Given the description of an element on the screen output the (x, y) to click on. 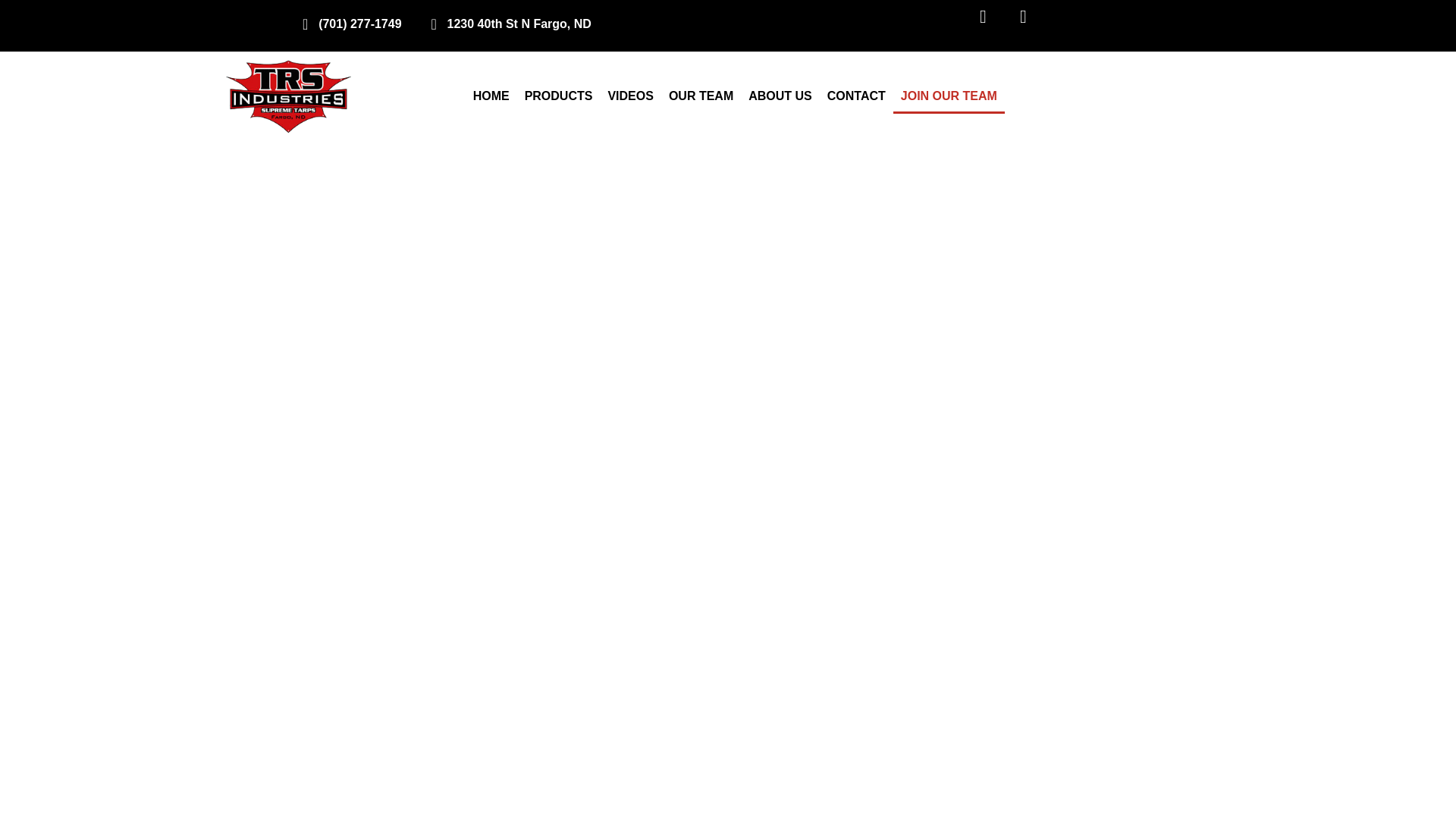
PRODUCTS (557, 95)
OUR TEAM (701, 95)
ABOUT US (780, 95)
HOME (490, 95)
VIDEOS (630, 95)
CONTACT (856, 95)
JOIN OUR TEAM (948, 95)
